Given the description of an element on the screen output the (x, y) to click on. 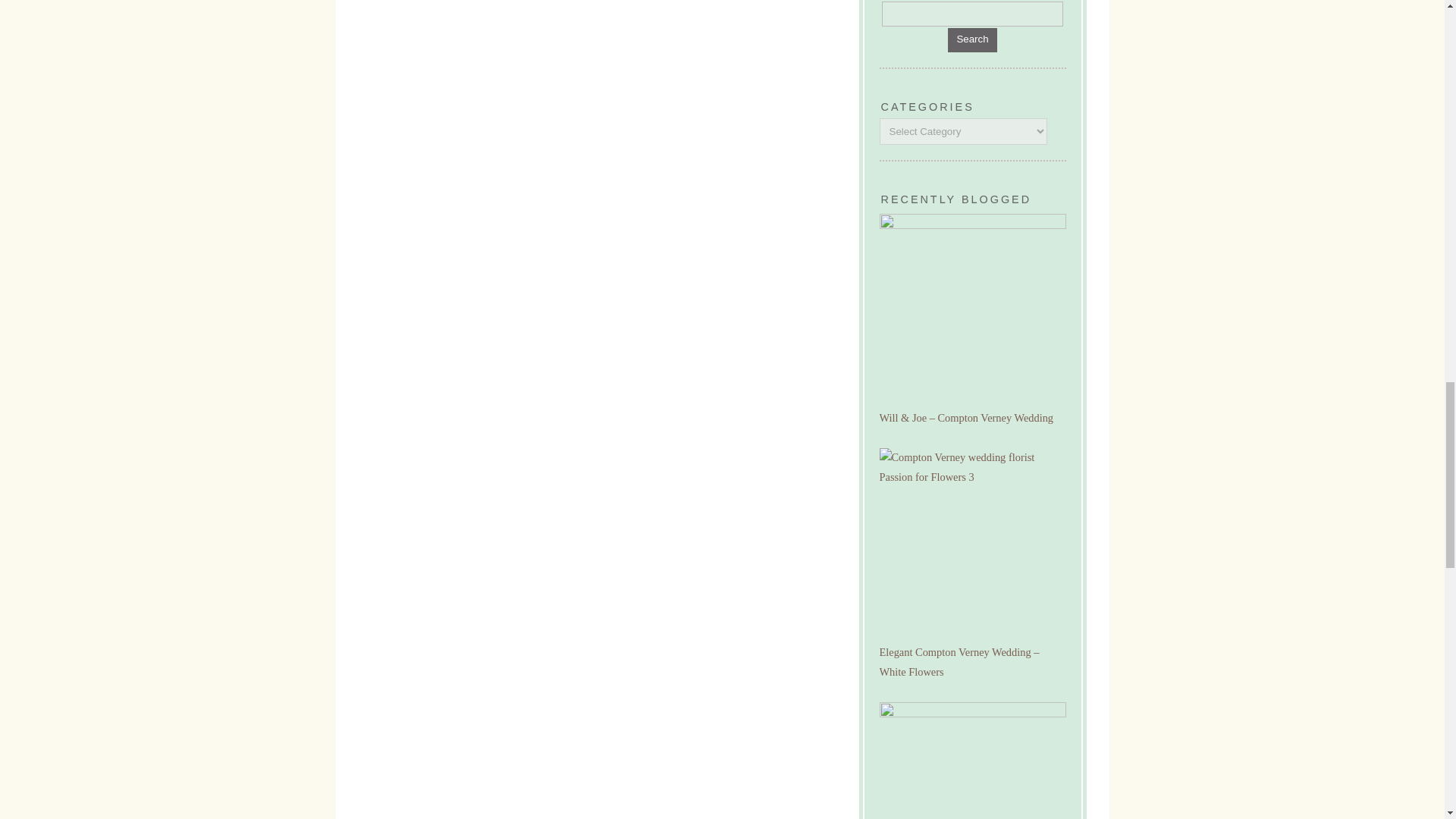
Search (972, 13)
